Given the description of an element on the screen output the (x, y) to click on. 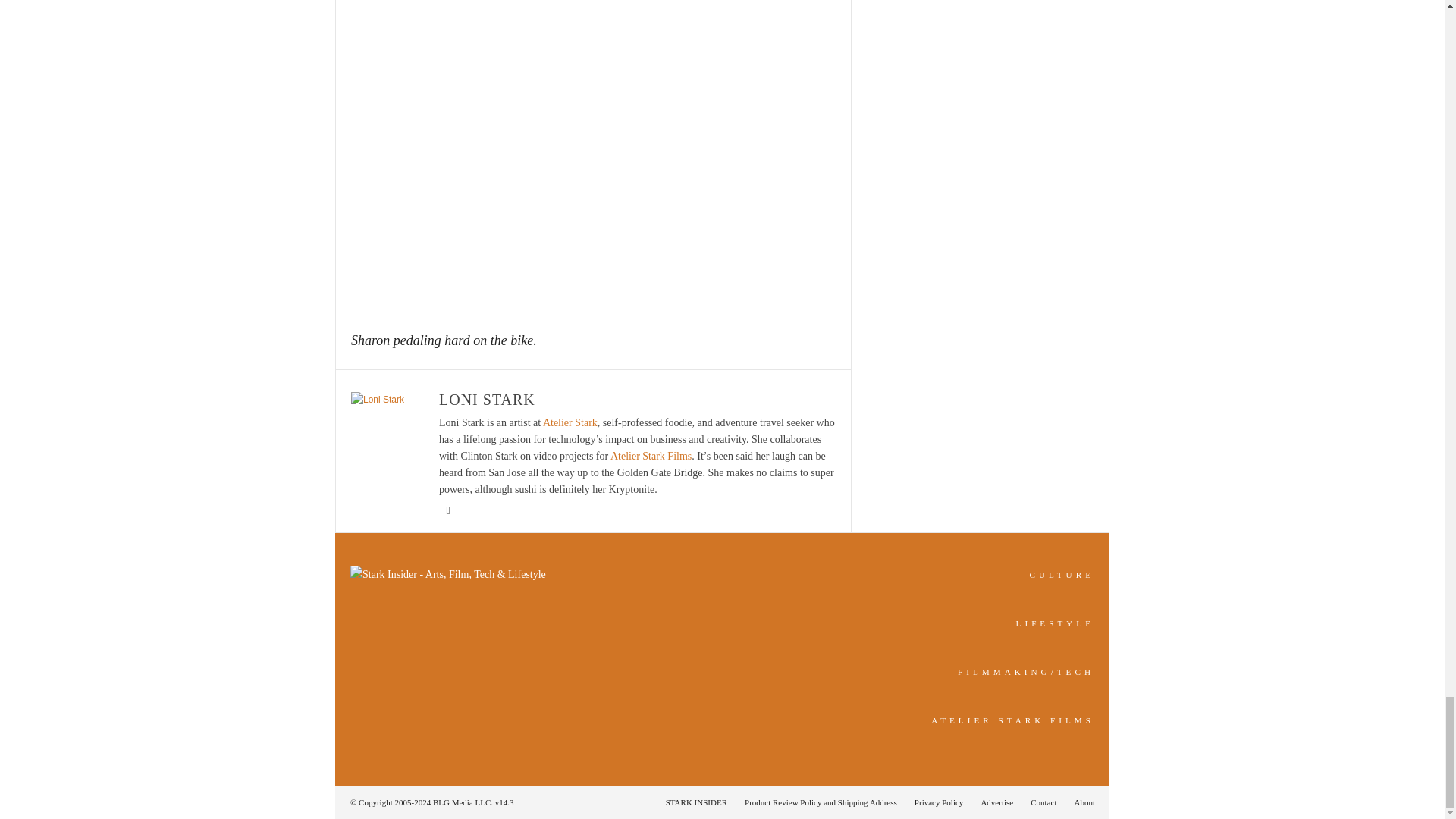
ATELIER STARK FILMS (1012, 719)
Atelier Stark (569, 422)
Instagram (448, 511)
LIFESTYLE (1055, 623)
Product Review Policy and Shipping Address (820, 801)
CULTURE (1061, 574)
LONI STARK (487, 399)
STARK INSIDER (696, 801)
Atelier Stark Films (650, 455)
